Given the description of an element on the screen output the (x, y) to click on. 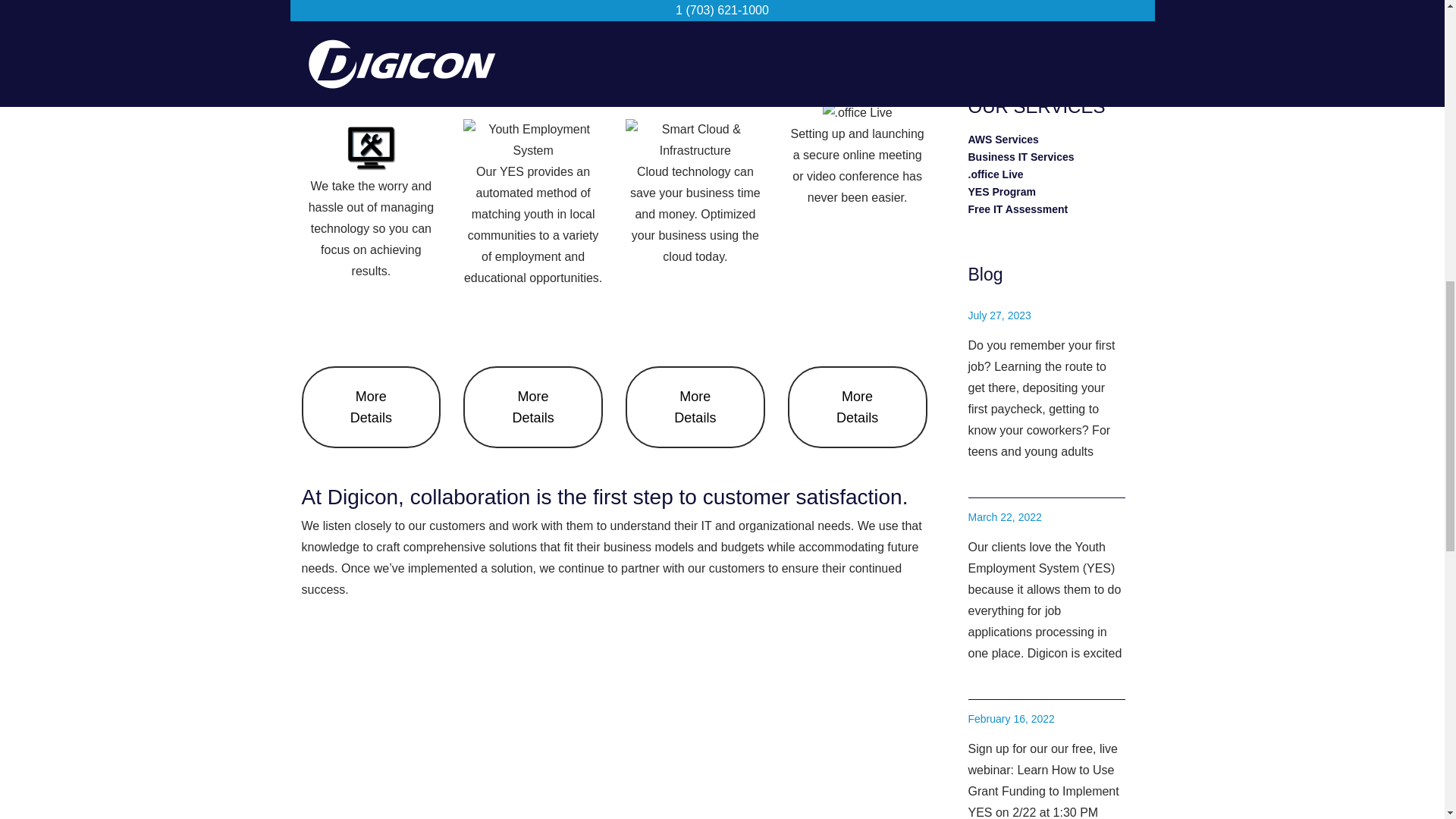
SEND (1048, 35)
